Given the description of an element on the screen output the (x, y) to click on. 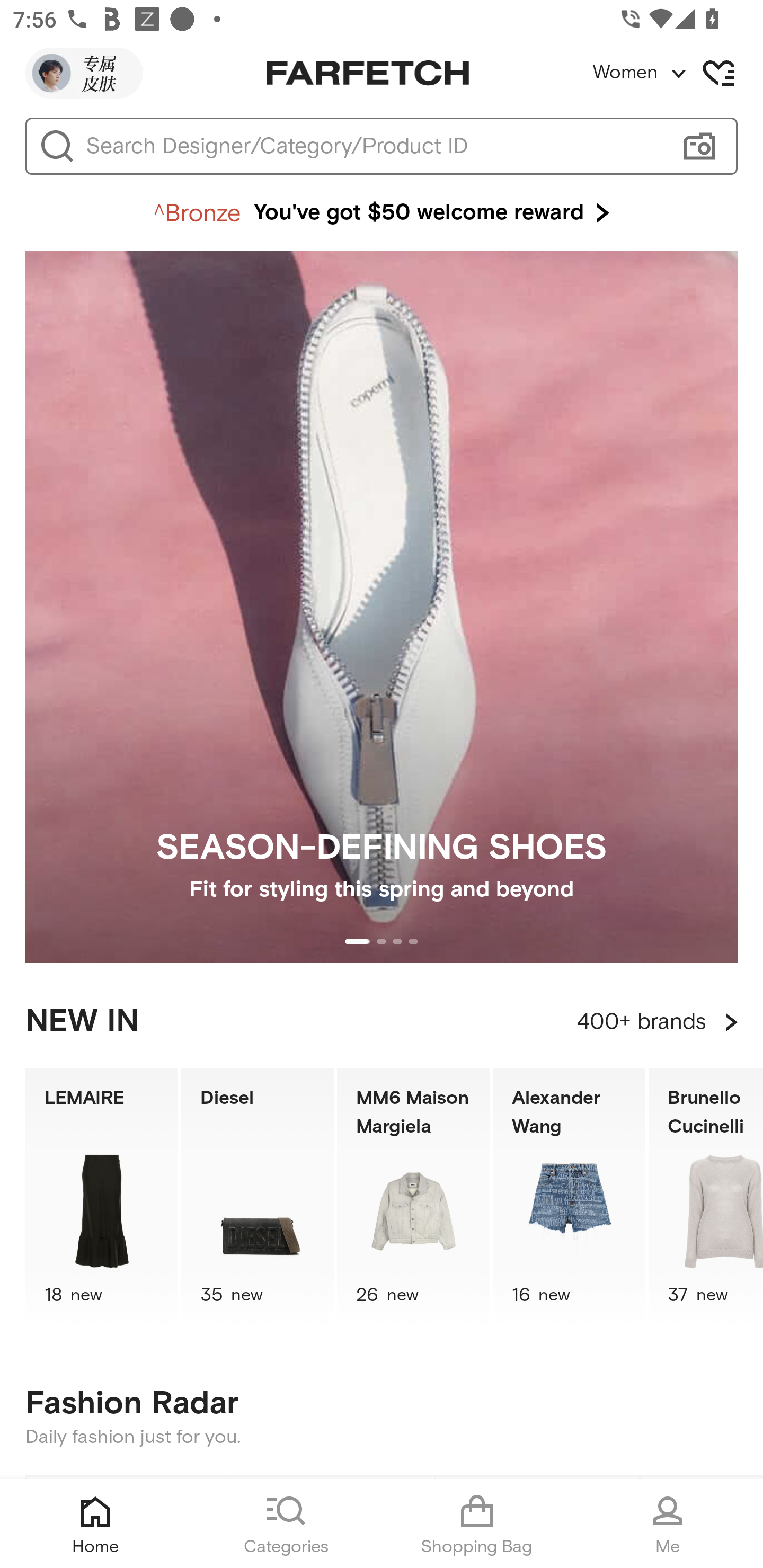
Women (677, 72)
Search Designer/Category/Product ID (373, 146)
You've got $50 welcome reward (381, 213)
NEW IN 400+ brands (381, 1021)
LEMAIRE 18  new (101, 1196)
Diesel 35  new (257, 1196)
MM6 Maison Margiela 26  new (413, 1196)
Alexander Wang 16  new (568, 1196)
Brunello Cucinelli 37  new (705, 1196)
Categories (285, 1523)
Shopping Bag (476, 1523)
Me (667, 1523)
